Given the description of an element on the screen output the (x, y) to click on. 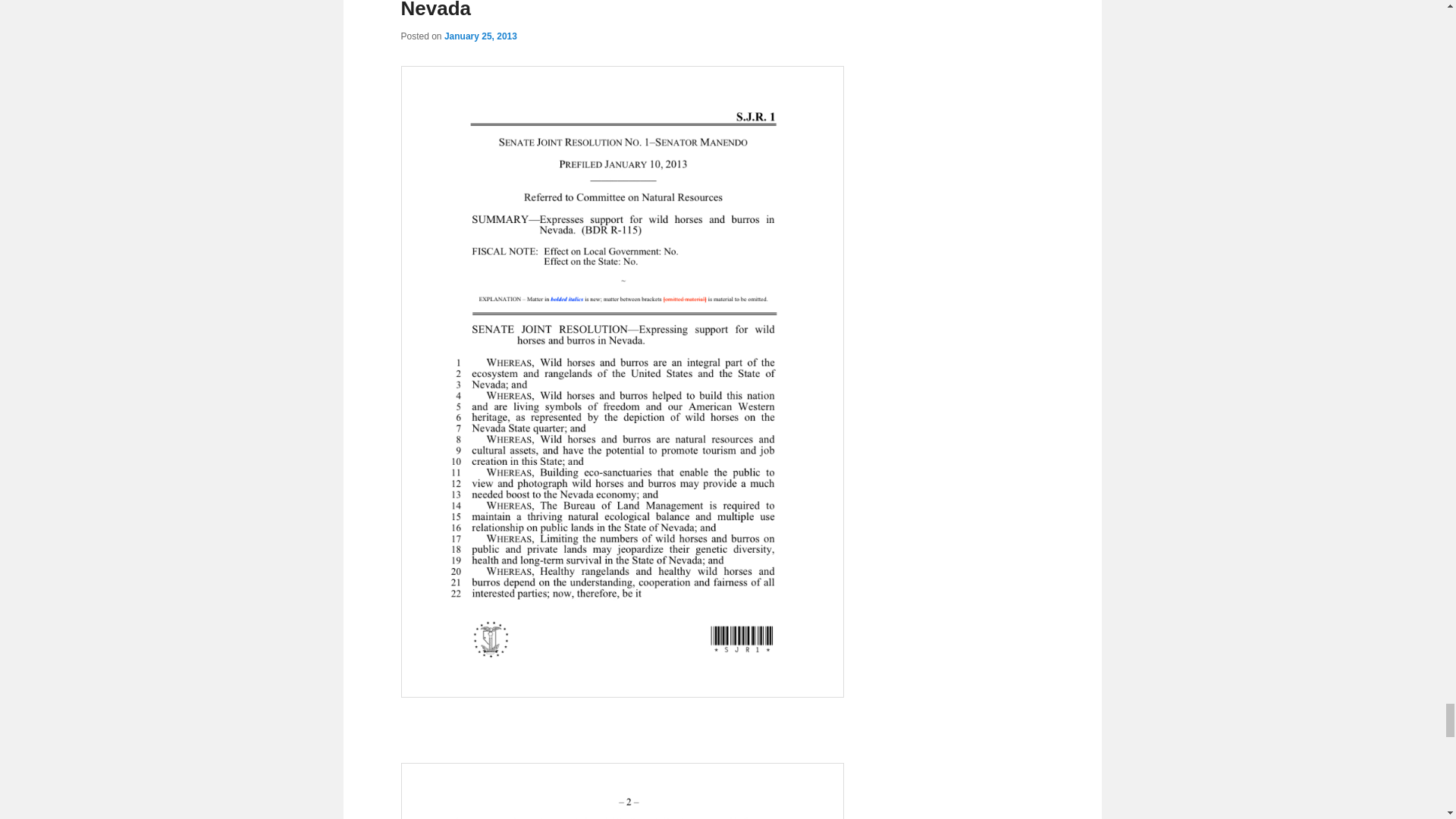
11:49 pm (480, 36)
